Given the description of an element on the screen output the (x, y) to click on. 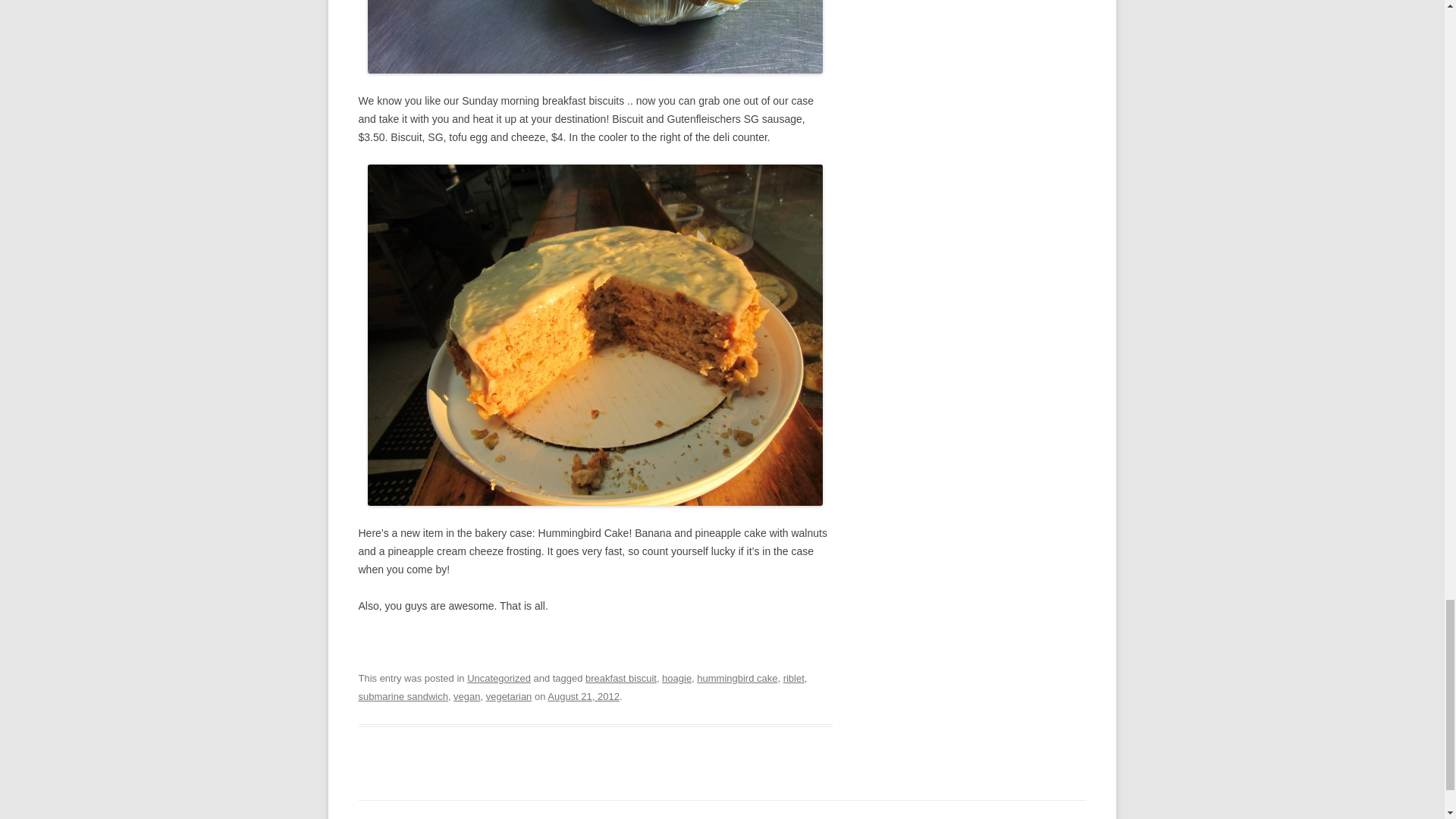
breakfast biscuits (595, 36)
riblet (794, 677)
vegan (466, 696)
Uncategorized (499, 677)
hoagie (676, 677)
hummingbird cake (737, 677)
vegetarian (509, 696)
7:53 am (583, 696)
breakfast biscuit (620, 677)
submarine sandwich (402, 696)
